Given the description of an element on the screen output the (x, y) to click on. 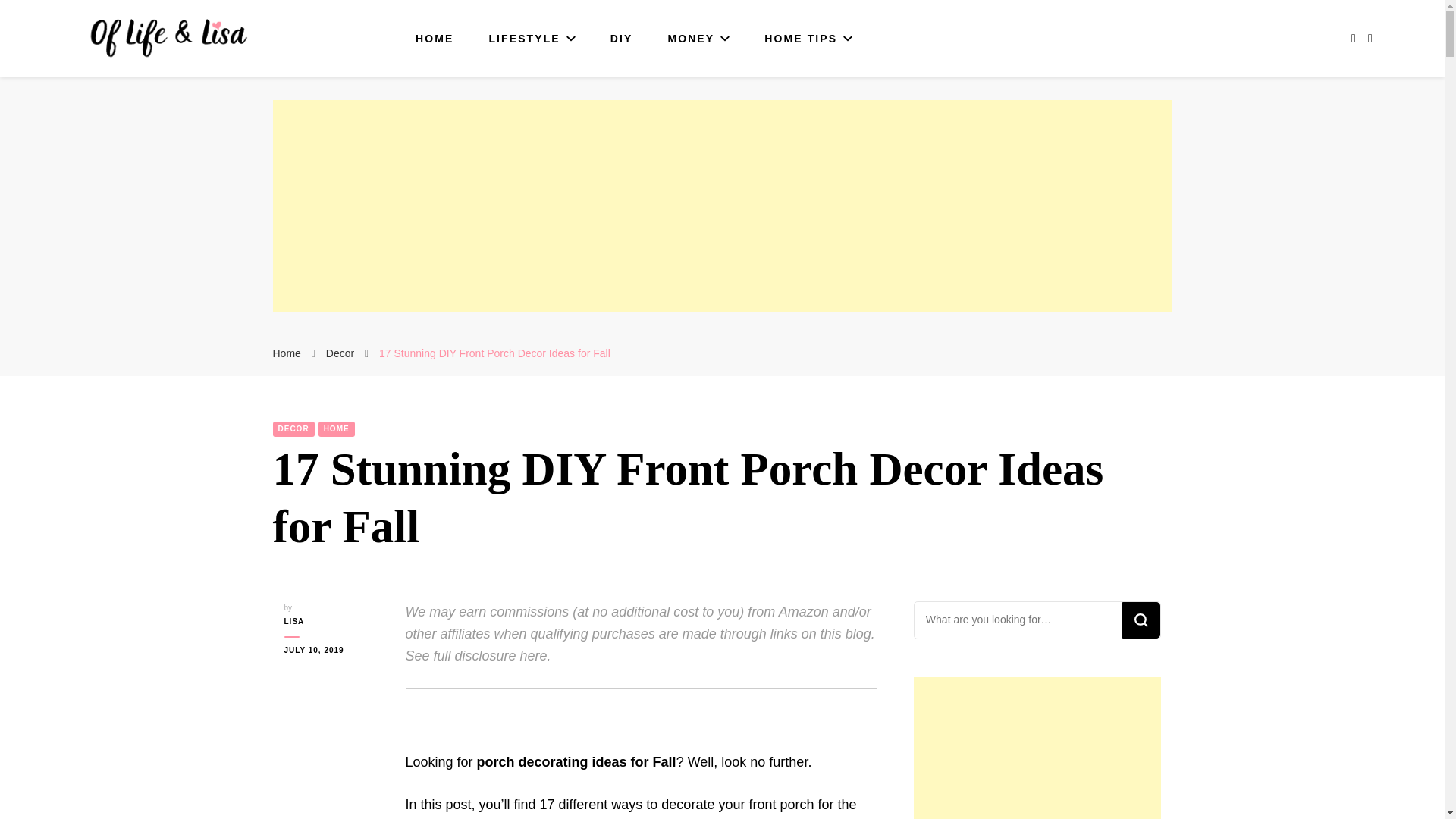
Advertisement (1037, 748)
Search (1141, 619)
DIY (621, 38)
Of Life and Lisa (167, 84)
HOME (433, 38)
LIFESTYLE (531, 38)
Search (1141, 619)
